Given the description of an element on the screen output the (x, y) to click on. 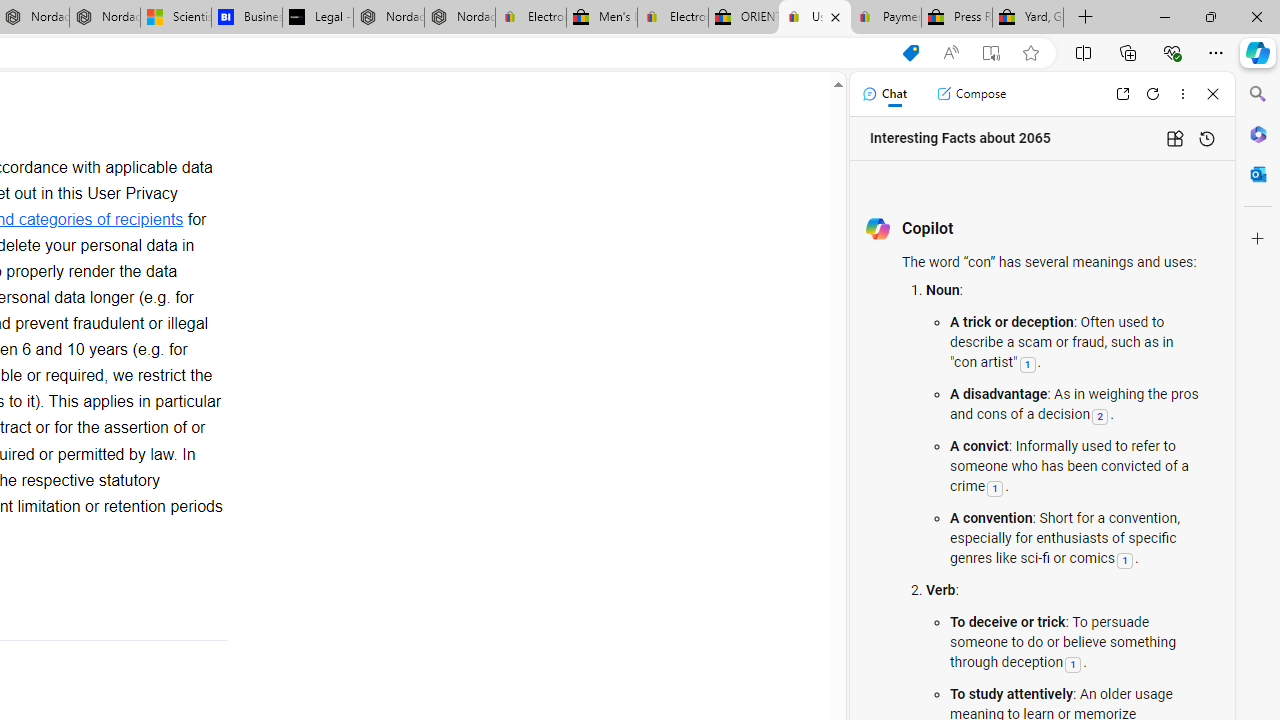
Chat (884, 93)
Press Room - eBay Inc. (956, 17)
Payments Terms of Use | eBay.com (886, 17)
Open link in new tab (1122, 93)
